Given the description of an element on the screen output the (x, y) to click on. 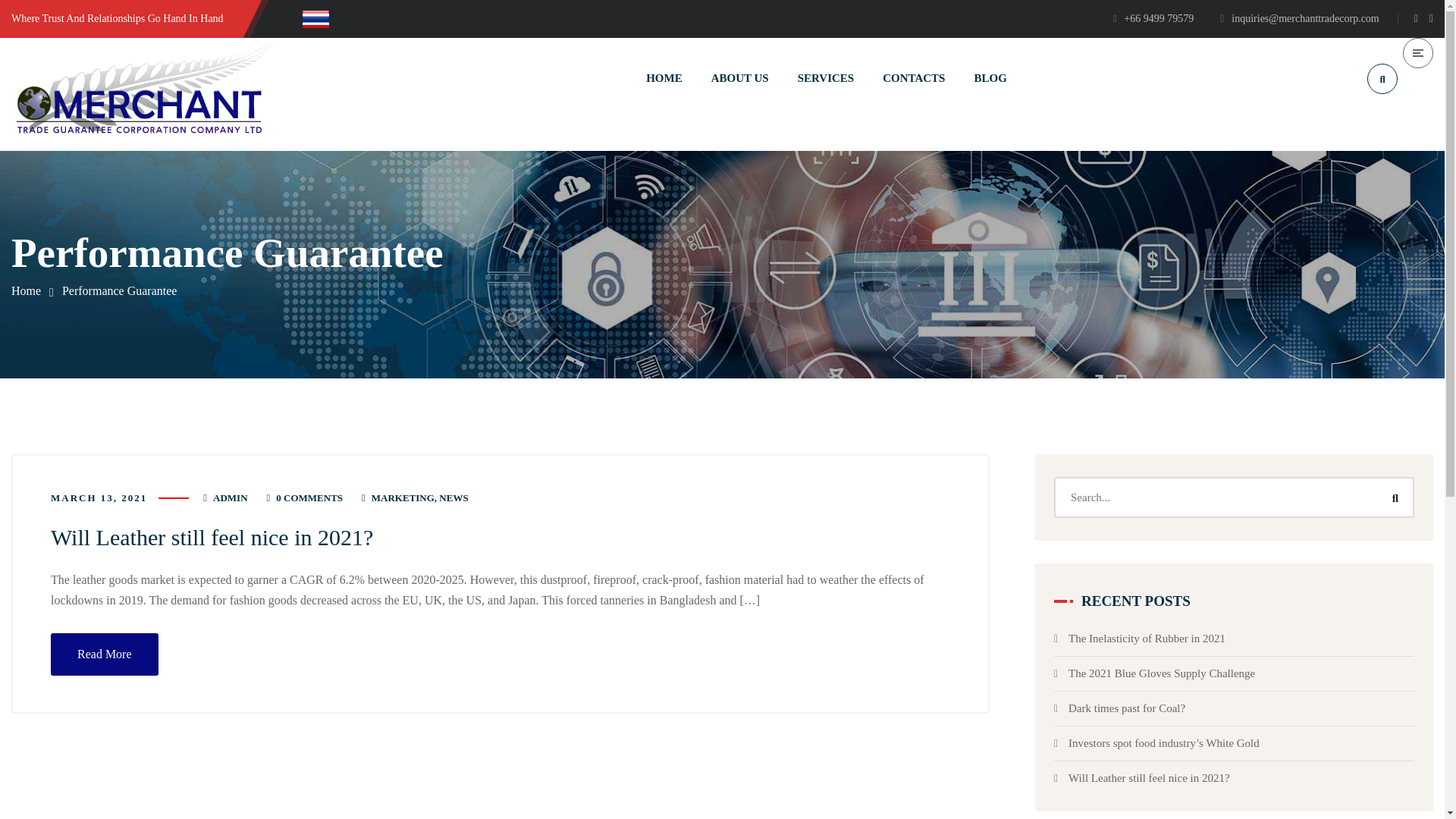
NEWS (453, 497)
English Version (283, 18)
0 COMMENTS (309, 497)
Read More (104, 654)
Will Leather still feel nice in 2021? (211, 536)
Home (25, 290)
View all posts in Marketing (402, 497)
View all posts in News (453, 497)
ADMIN (229, 497)
MARKETING (402, 497)
Thai Version (318, 18)
Where Trust And Relationships Go Hand In Hand (117, 18)
